Given the description of an element on the screen output the (x, y) to click on. 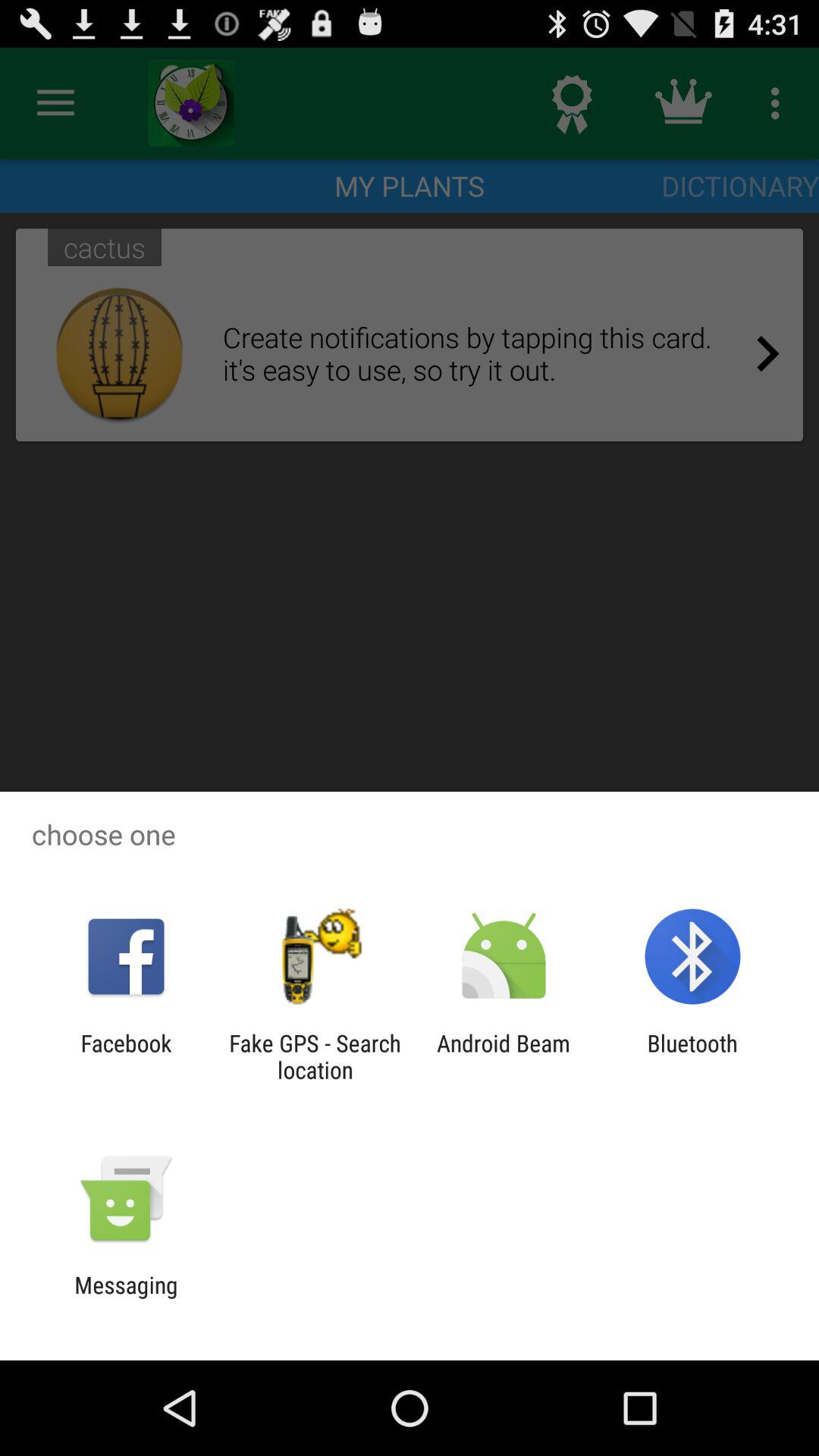
open app next to the fake gps search (125, 1056)
